Given the description of an element on the screen output the (x, y) to click on. 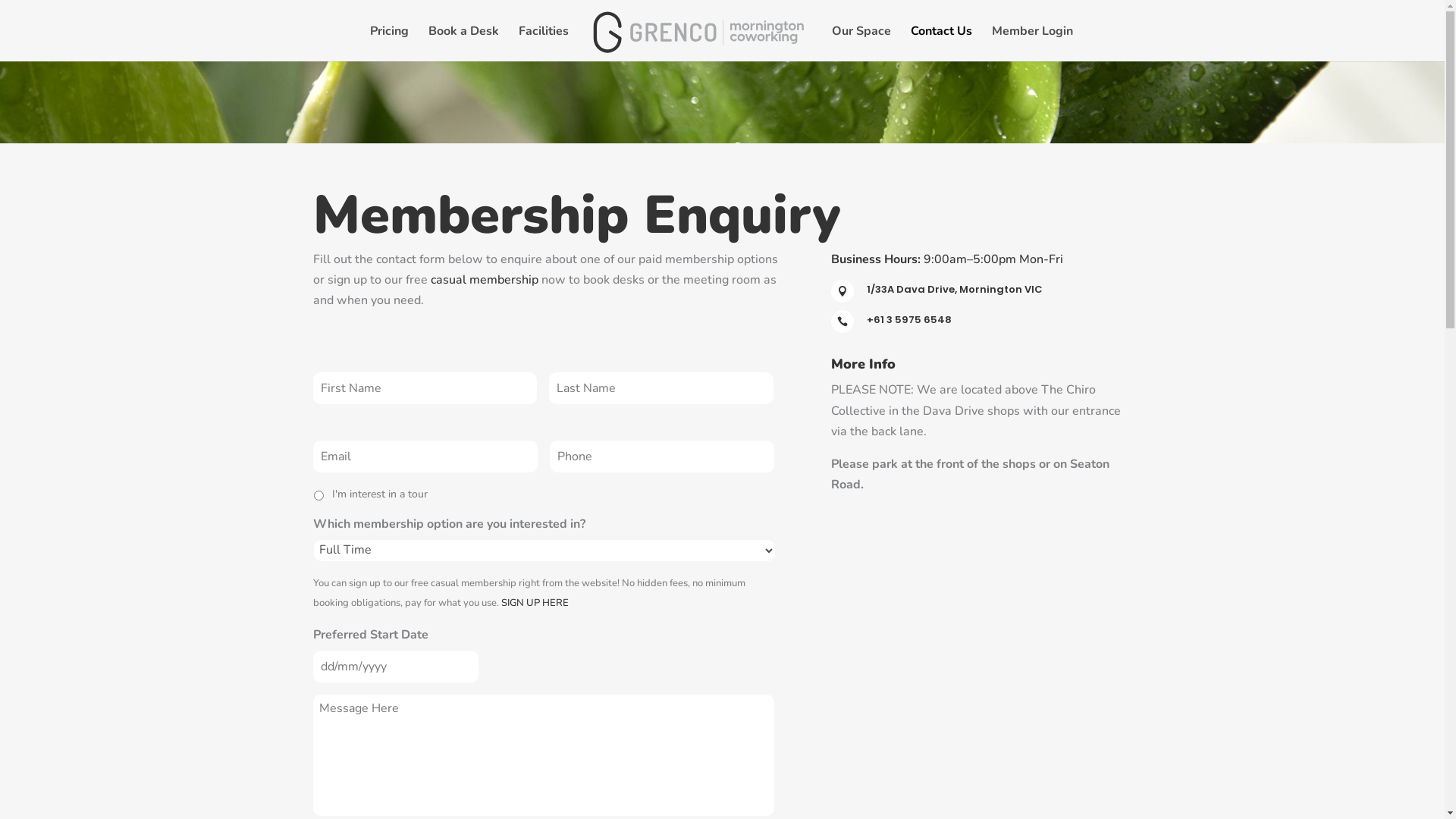
Our Space Element type: text (861, 43)
Book a Desk Element type: text (463, 43)
SIGN UP HERE Element type: text (533, 602)
casual membership Element type: text (484, 279)
Contact Us Element type: text (941, 43)
Submit Element type: text (23, 0)
Facilities Element type: text (543, 43)
Pricing Element type: text (389, 43)
Member Login Element type: text (1032, 43)
